Given the description of an element on the screen output the (x, y) to click on. 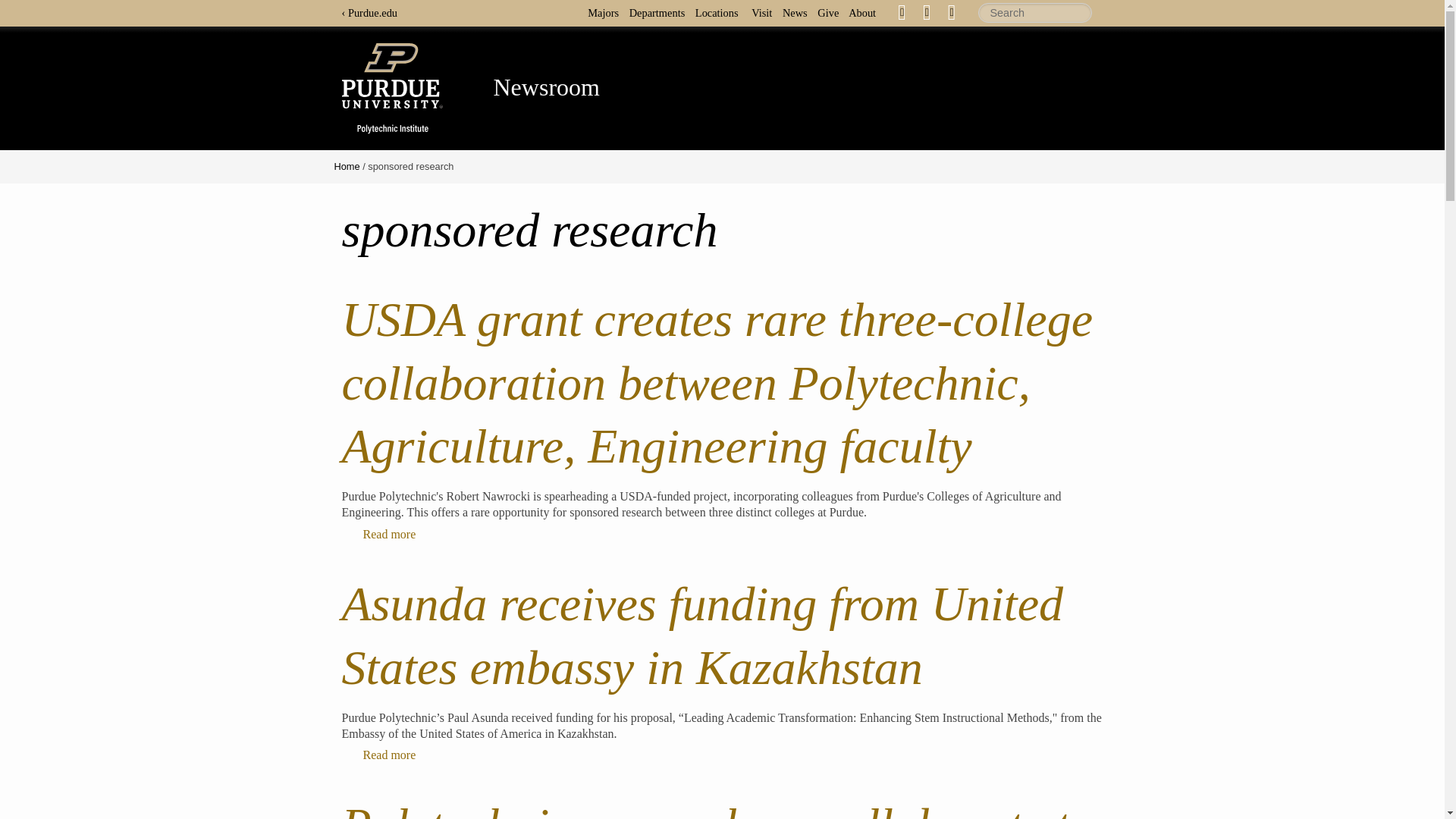
Enter the terms you wish to search for. (1035, 12)
instagram link (951, 12)
Give (830, 12)
facebook link (901, 12)
News (799, 12)
Link to instagram (951, 10)
Search (1035, 12)
Departments (660, 12)
Visit (764, 12)
